Given the description of an element on the screen output the (x, y) to click on. 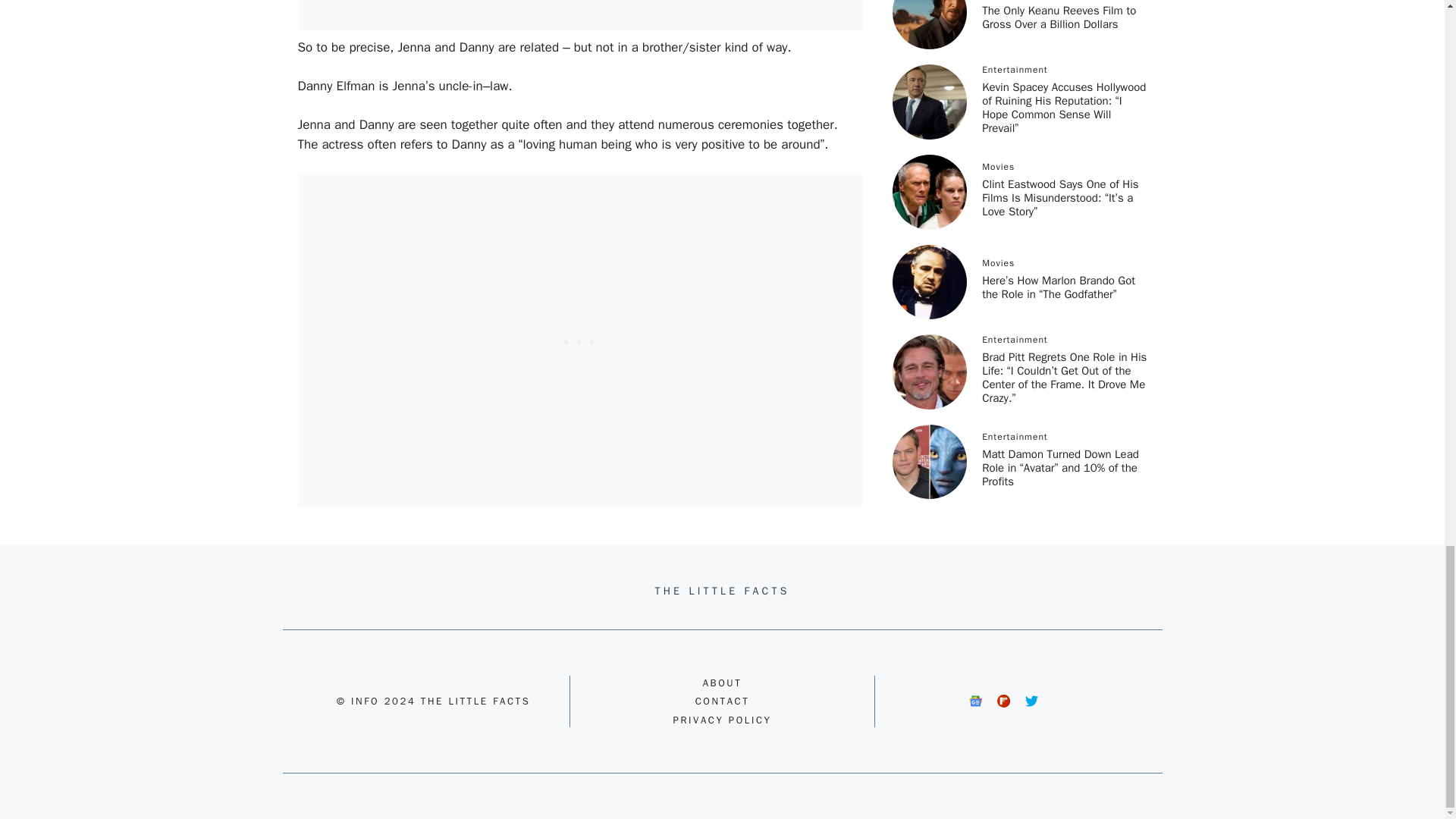
Twitter-color Created with Sketch. (1031, 700)
ABOUT (722, 682)
PRIVACY POLICY (721, 719)
Twitter-color Created with Sketch. (1031, 700)
CONTACT (722, 700)
